Given the description of an element on the screen output the (x, y) to click on. 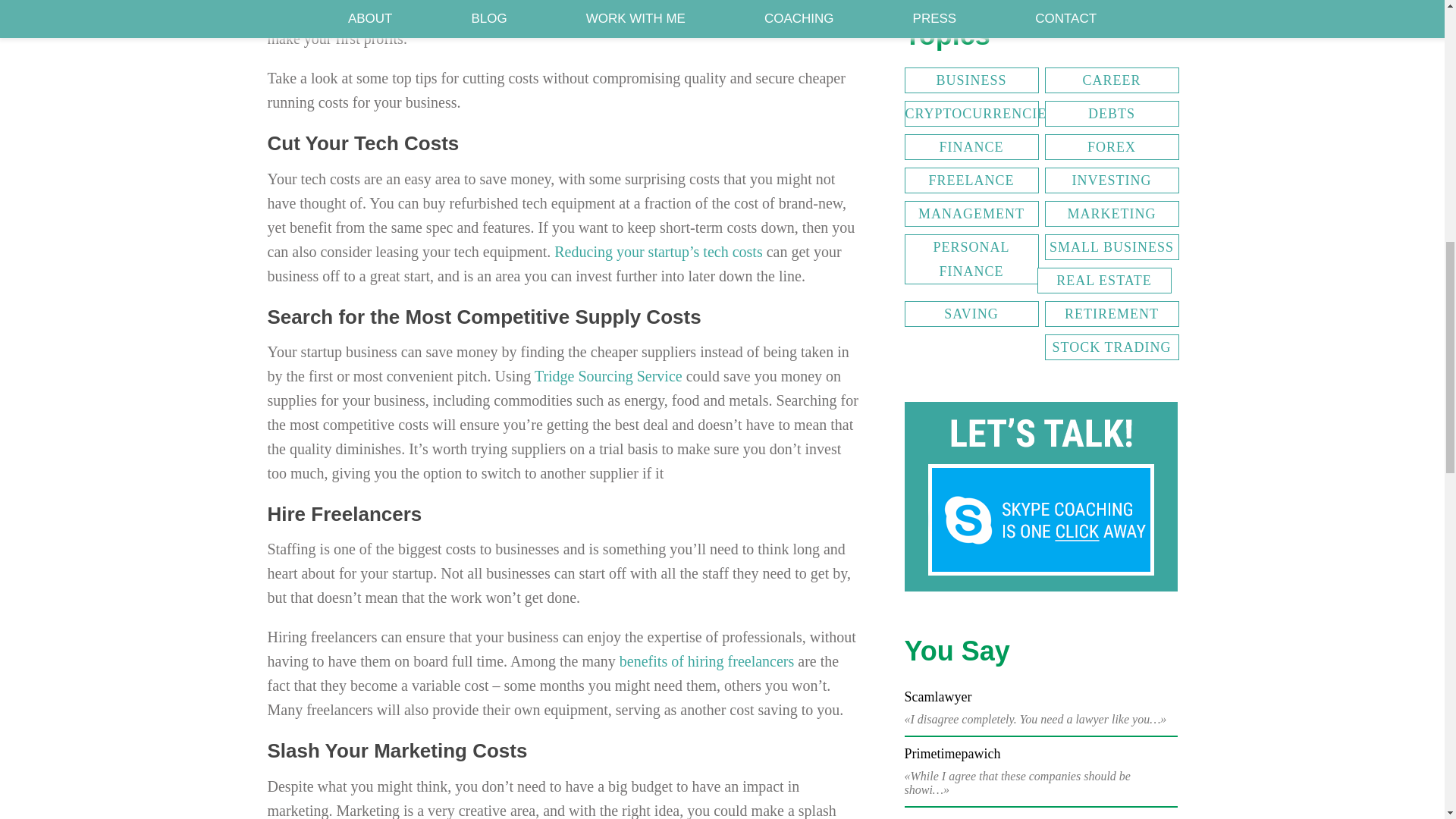
INVESTING (1112, 180)
CAREER (1112, 80)
MARKETING (1112, 213)
benefits of hiring freelancers (706, 660)
MANAGEMENT (971, 213)
SMALL BUSINESS (1112, 247)
RETIREMENT (1112, 313)
PERSONAL FINANCE (971, 259)
CRYPTOCURRENCIES (971, 113)
SAVING (971, 313)
BUSINESS (971, 80)
FINANCE (971, 146)
DEBTS (1112, 113)
FREELANCE (971, 180)
FOREX (1112, 146)
